Given the description of an element on the screen output the (x, y) to click on. 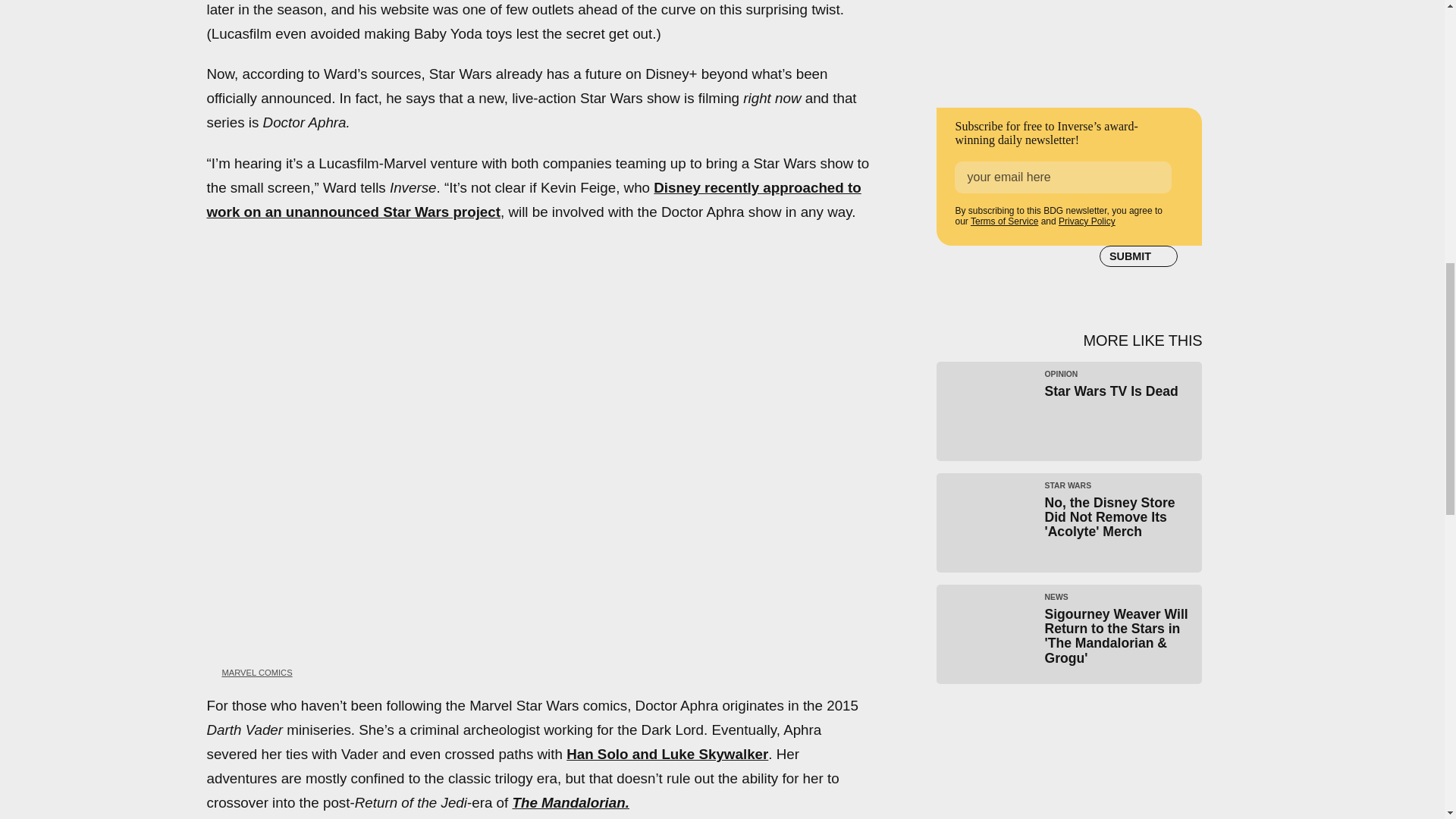
Privacy Policy (1086, 221)
Han Solo and Luke Skywalker (667, 754)
The Mandalorian. (570, 802)
Terms of Service (1004, 221)
SUBMIT (1138, 255)
MARVEL COMICS (256, 672)
